Given the description of an element on the screen output the (x, y) to click on. 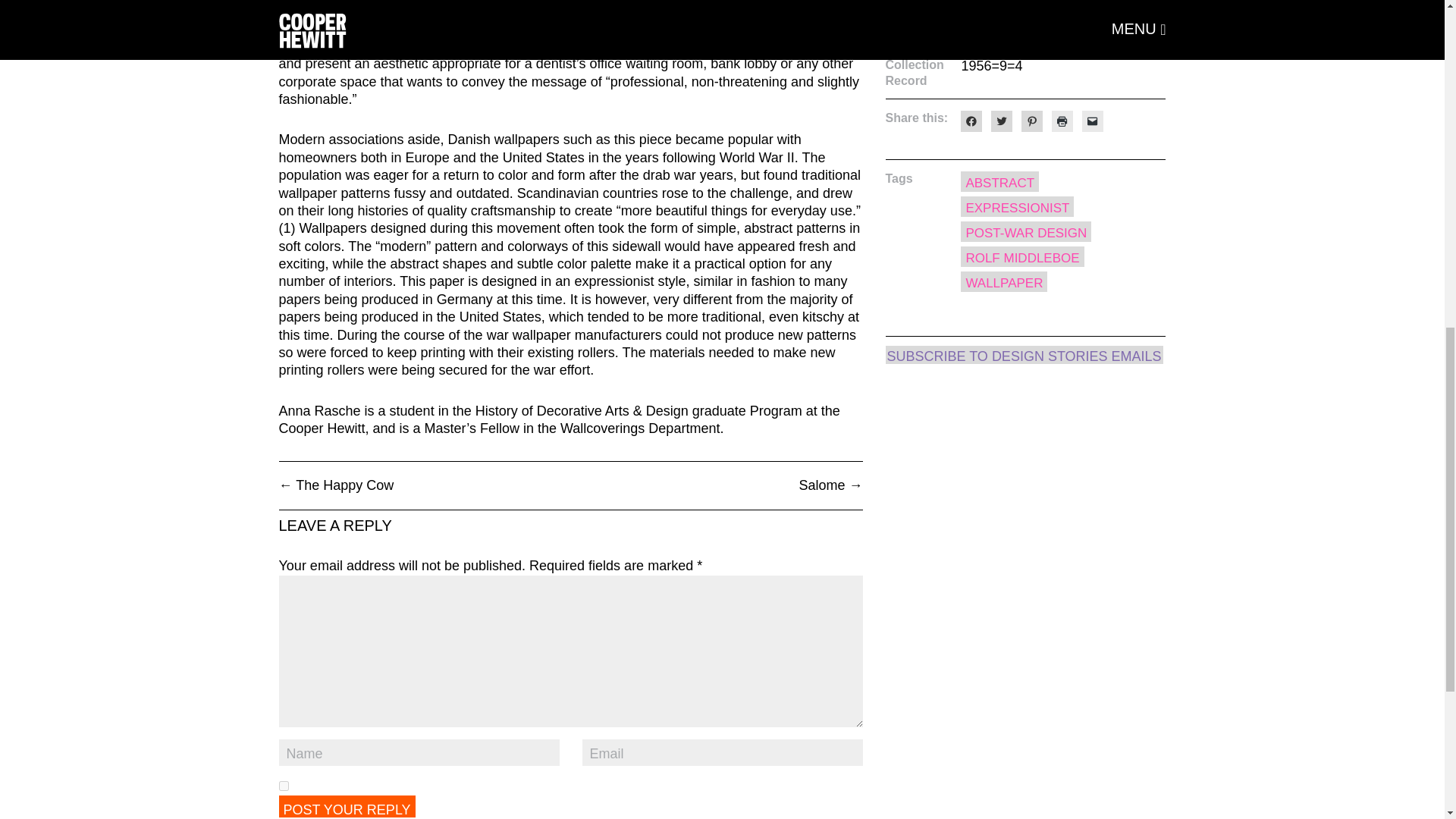
yes (283, 786)
Click to share on Pinterest (1032, 120)
Click to share on Facebook (970, 120)
Click to print (1062, 120)
Click to email a link to a friend (1092, 120)
Post Your Reply (346, 806)
Click to share on Twitter (1001, 120)
